Given the description of an element on the screen output the (x, y) to click on. 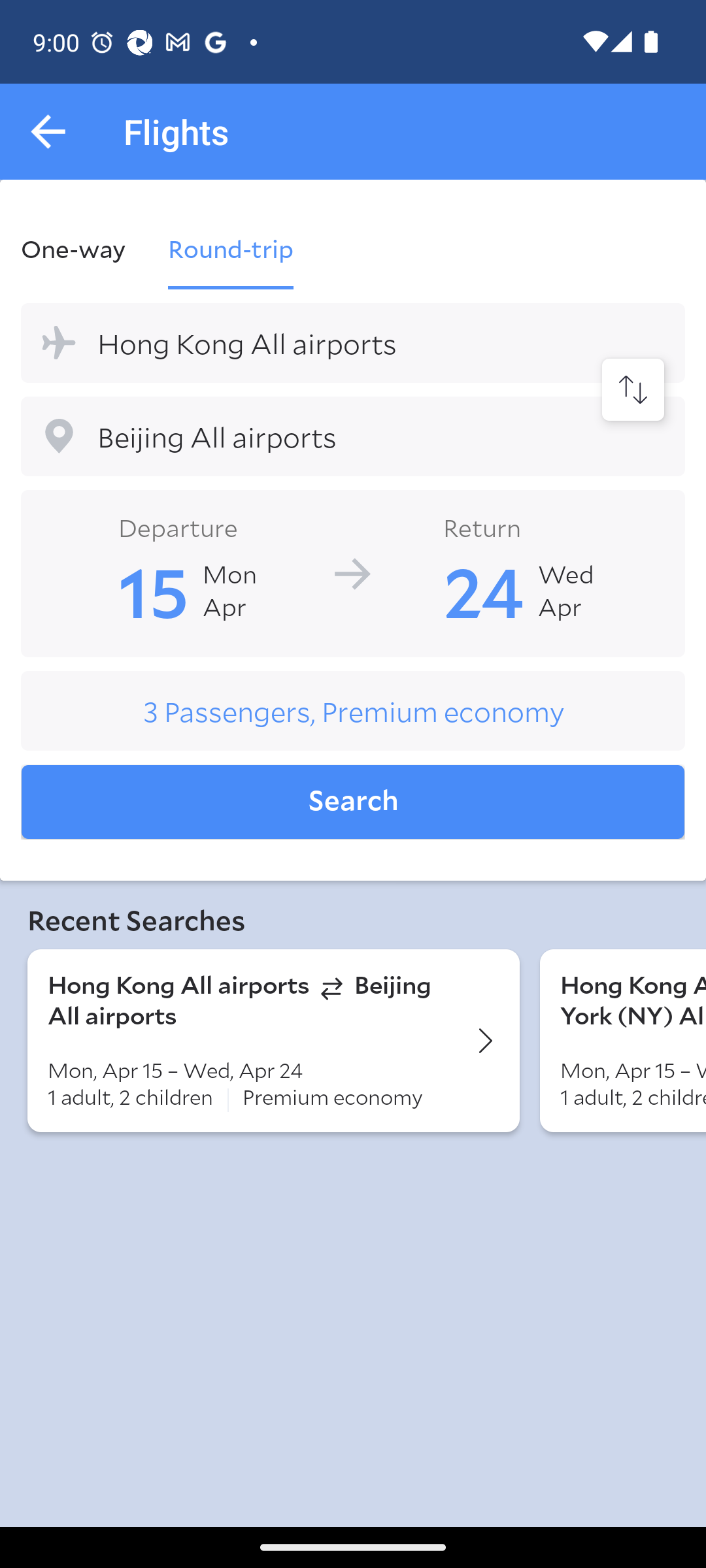
One-way (83, 248)
Hong Kong All airports (352, 342)
Beijing All airports (352, 436)
Departure 15 Mon Apr Return 24 Wed Apr (352, 572)
3 Passengers, Premium economy (352, 711)
Search  Search (352, 801)
